Given the description of an element on the screen output the (x, y) to click on. 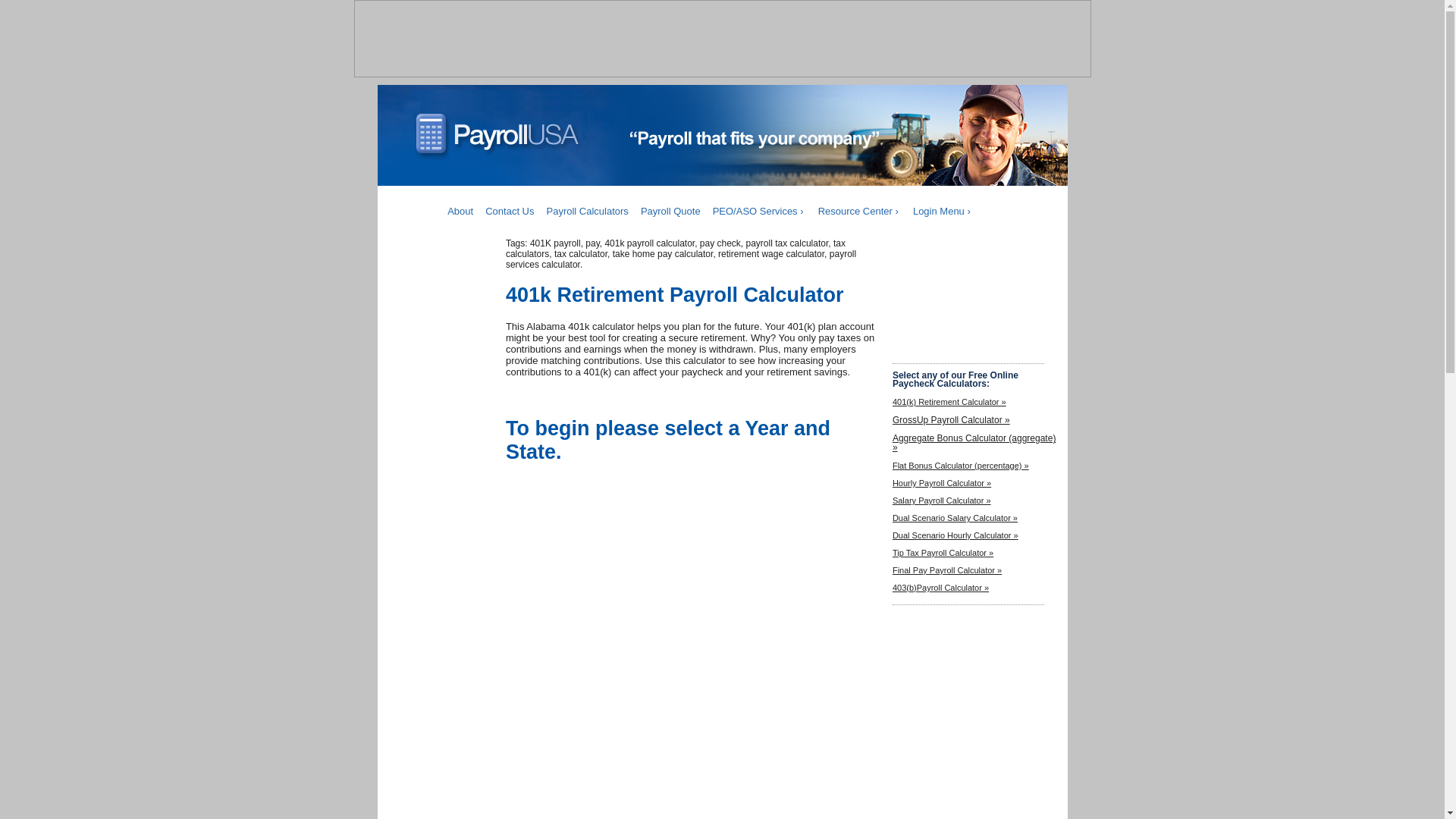
Payroll Quote (670, 210)
Advertisement (632, 774)
Advertisement (722, 42)
About (460, 210)
Advertisement (967, 680)
Advertisement (444, 773)
Advertisement (967, 308)
Advertisement (691, 608)
Contact Us (509, 210)
Payroll Calculators (586, 210)
